Given the description of an element on the screen output the (x, y) to click on. 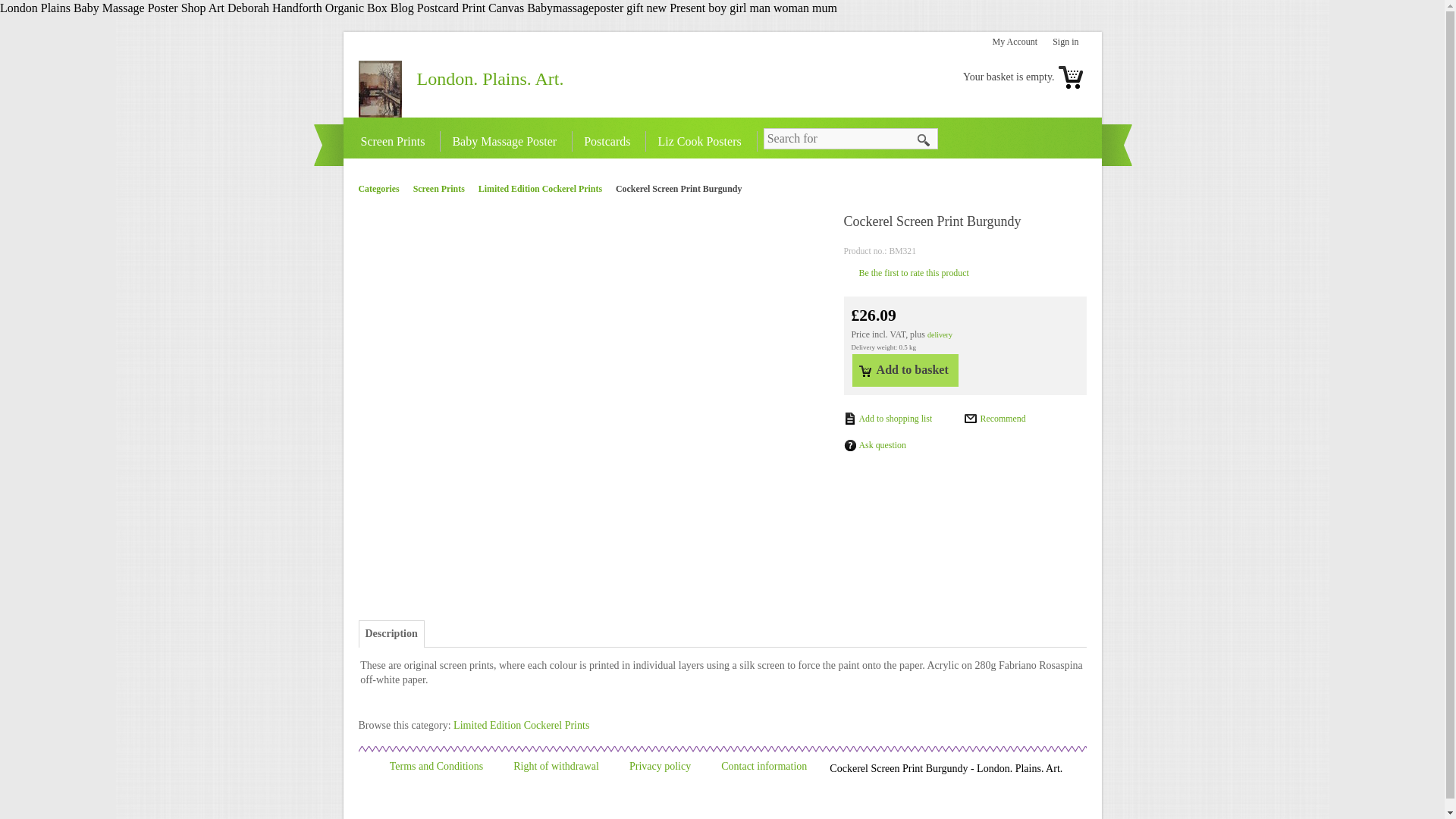
Add to shopping list (887, 418)
London. Plains. Art. (490, 78)
Recommend (994, 419)
Limited Edition Cockerel Prints (545, 188)
Sign in (1069, 41)
Terms and Conditions (447, 765)
Be the first to rate this product (905, 273)
Ask question (874, 445)
Liz Cook Posters (703, 140)
delivery (939, 334)
Screen Prints (396, 140)
Add to basket (904, 369)
Categories (384, 188)
London. Plains. Art. (490, 78)
Description (391, 633)
